Given the description of an element on the screen output the (x, y) to click on. 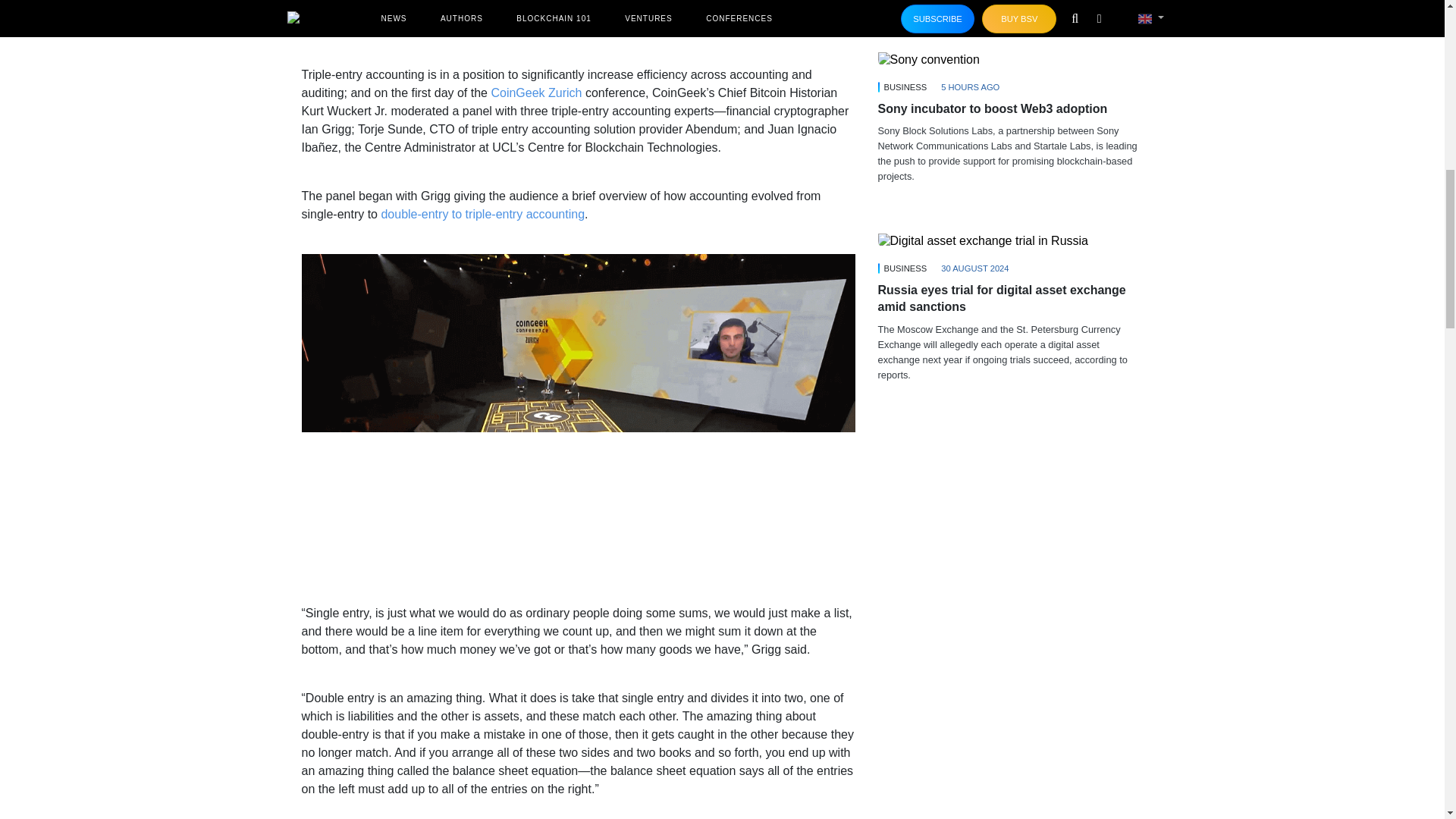
Russia - digital asset exchange (982, 240)
double-entry to triple-entry accounting (482, 214)
CoinGeek Zurich (535, 92)
Sony incubator to boost Web3 adoption (1009, 59)
Sony (928, 59)
Russia eyes trial for digital asset exchange amid sanctions (1009, 240)
